Given the description of an element on the screen output the (x, y) to click on. 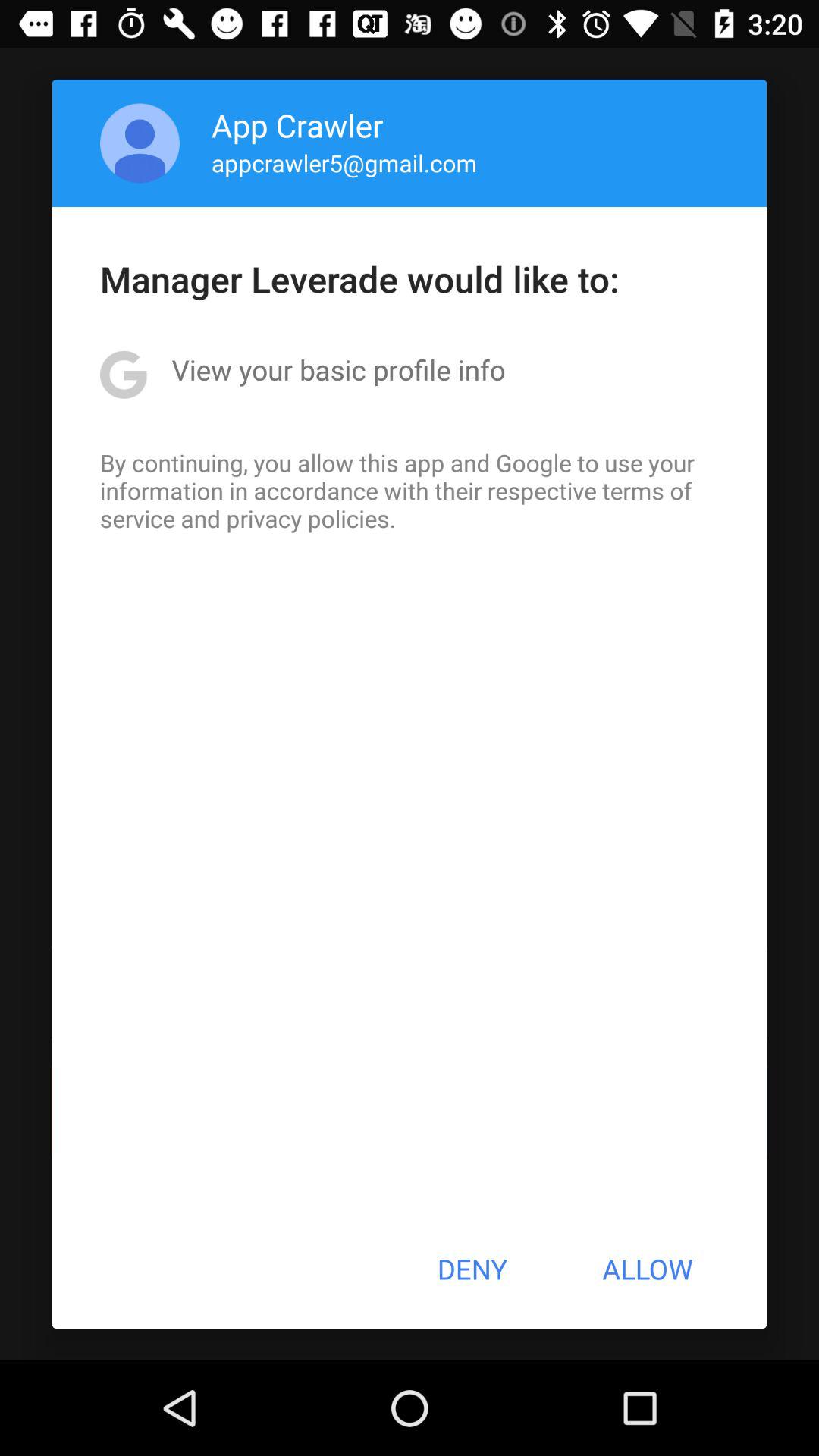
open the app to the left of app crawler item (139, 143)
